Given the description of an element on the screen output the (x, y) to click on. 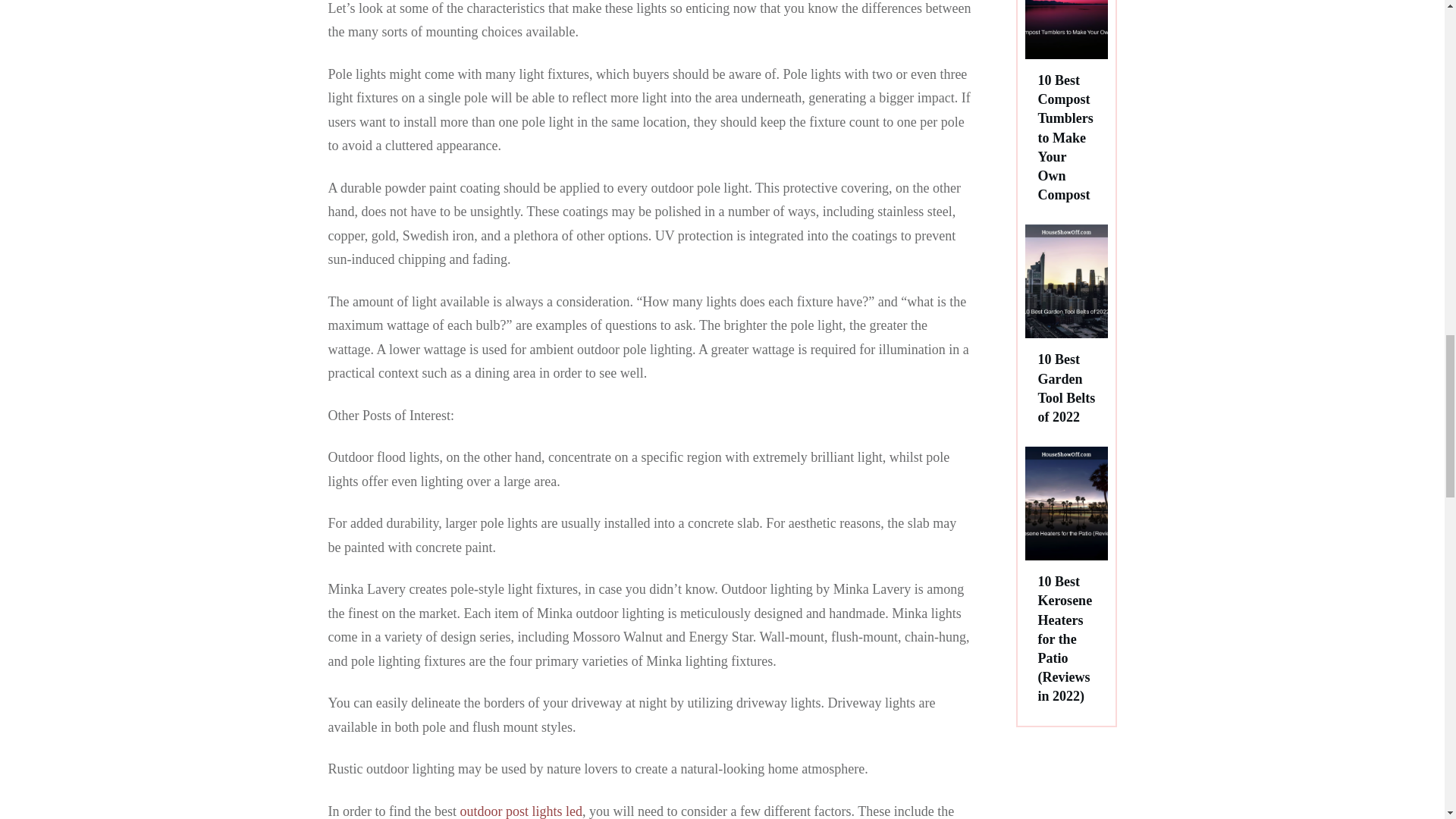
outdoor post lights led (521, 811)
